Given the description of an element on the screen output the (x, y) to click on. 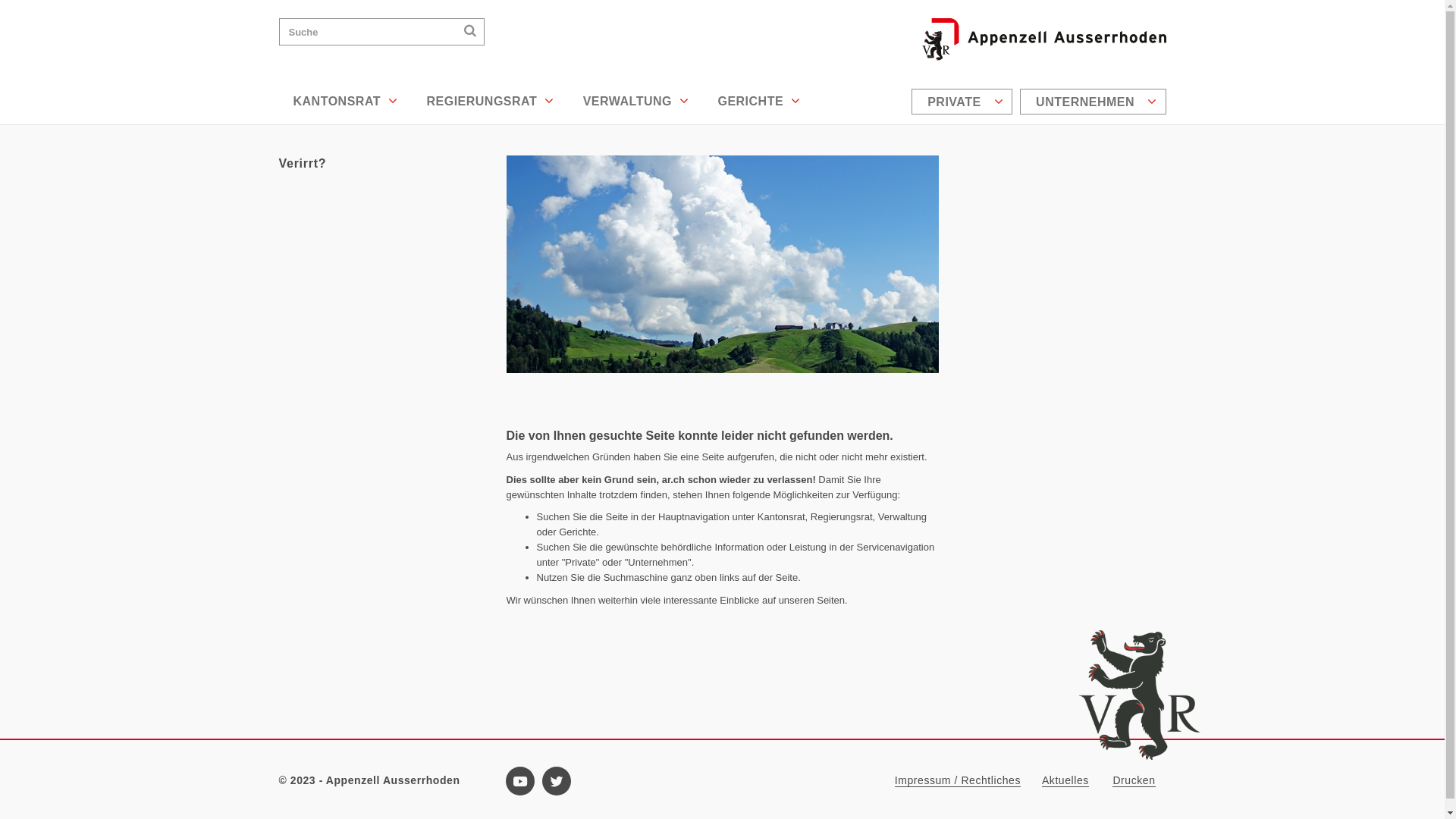
Impressum / Rechtliches Element type: text (957, 780)
Verirrt? Element type: text (381, 163)
VERWALTUNG Element type: text (635, 101)
PRIVATE Element type: text (961, 101)
UNTERNEHMEN Element type: text (1092, 101)
Drucken Element type: text (1133, 780)
GERICHTE Element type: text (758, 101)
REGIERUNGSRAT Element type: text (489, 101)
Suchen Element type: text (469, 29)
KANTONSRAT Element type: text (345, 101)
Aktuelles Element type: text (1064, 780)
